Given the description of an element on the screen output the (x, y) to click on. 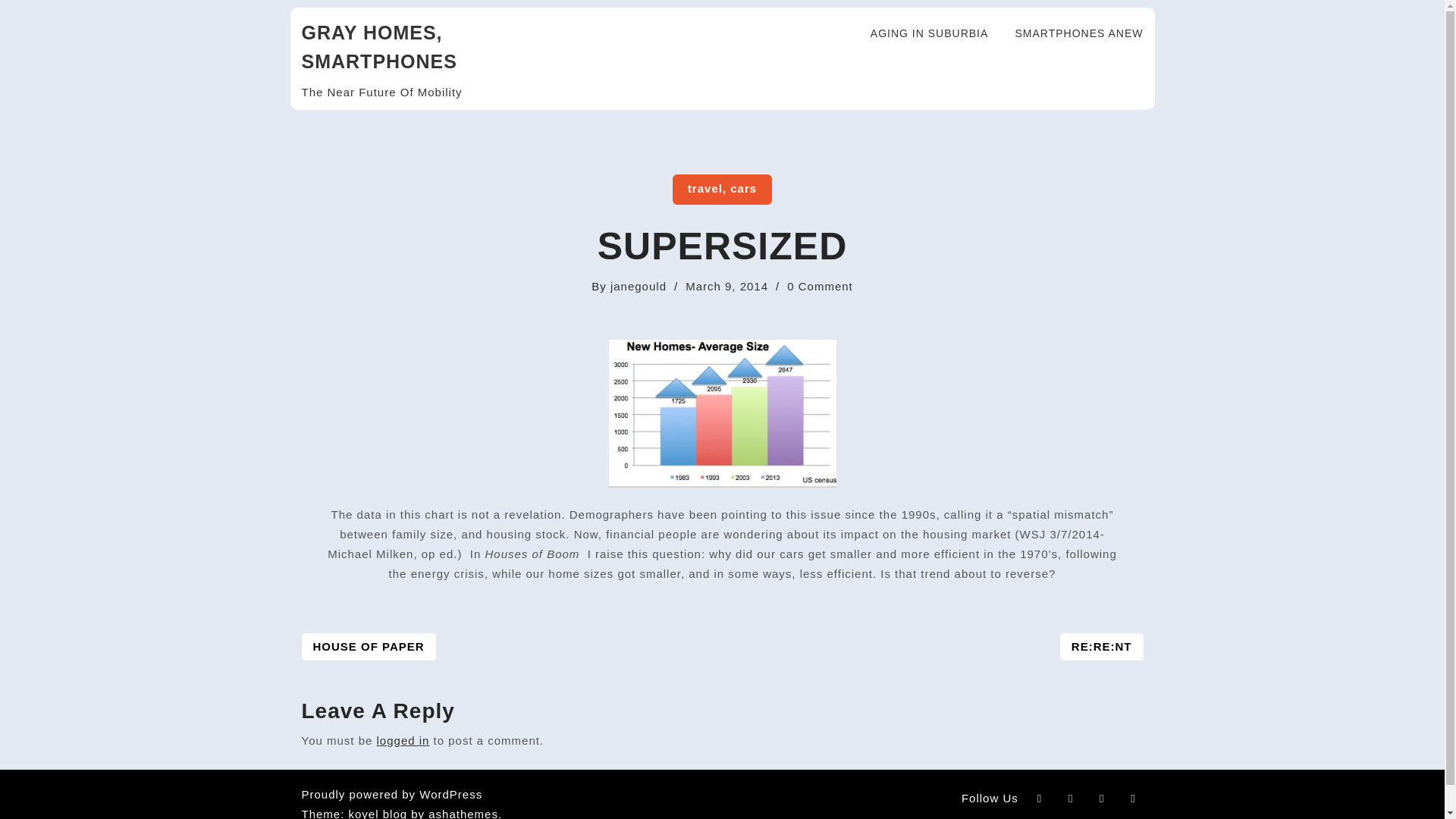
Proudly powered by WordPress (392, 793)
March 9, 2014 (726, 286)
janegould (638, 286)
HOUSE OF PAPER (368, 646)
GRAY HOMES, SMARTPHONES (379, 47)
RE:RE:NT (820, 286)
travel, cars (1100, 646)
AGING IN SUBURBIA (721, 189)
logged in (919, 33)
